Given the description of an element on the screen output the (x, y) to click on. 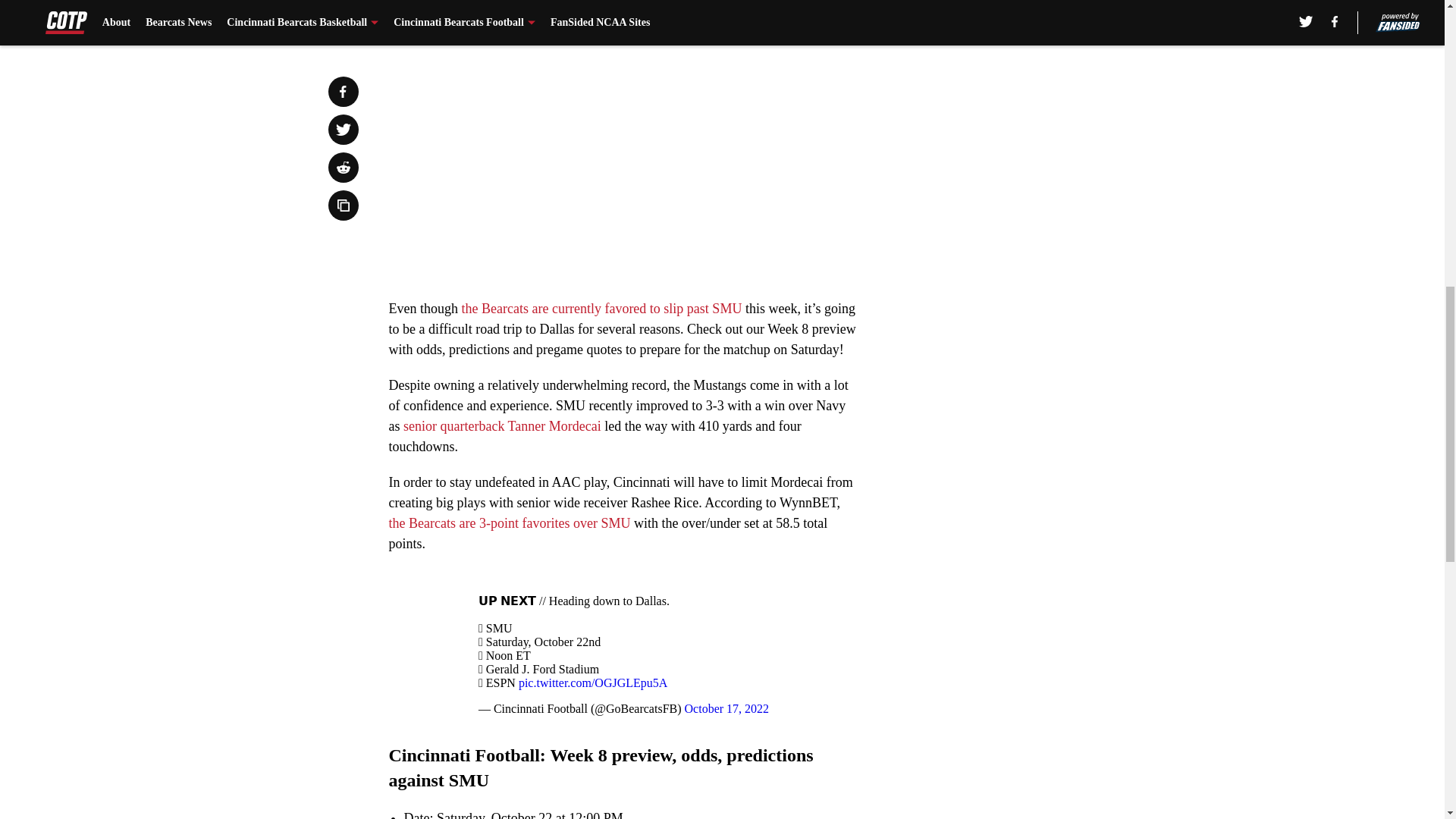
the Bearcats are currently favored to slip past SMU (601, 308)
the Bearcats are 3-point favorites over SMU (509, 522)
senior quarterback Tanner Mordecai (502, 426)
October 17, 2022 (727, 707)
